Given the description of an element on the screen output the (x, y) to click on. 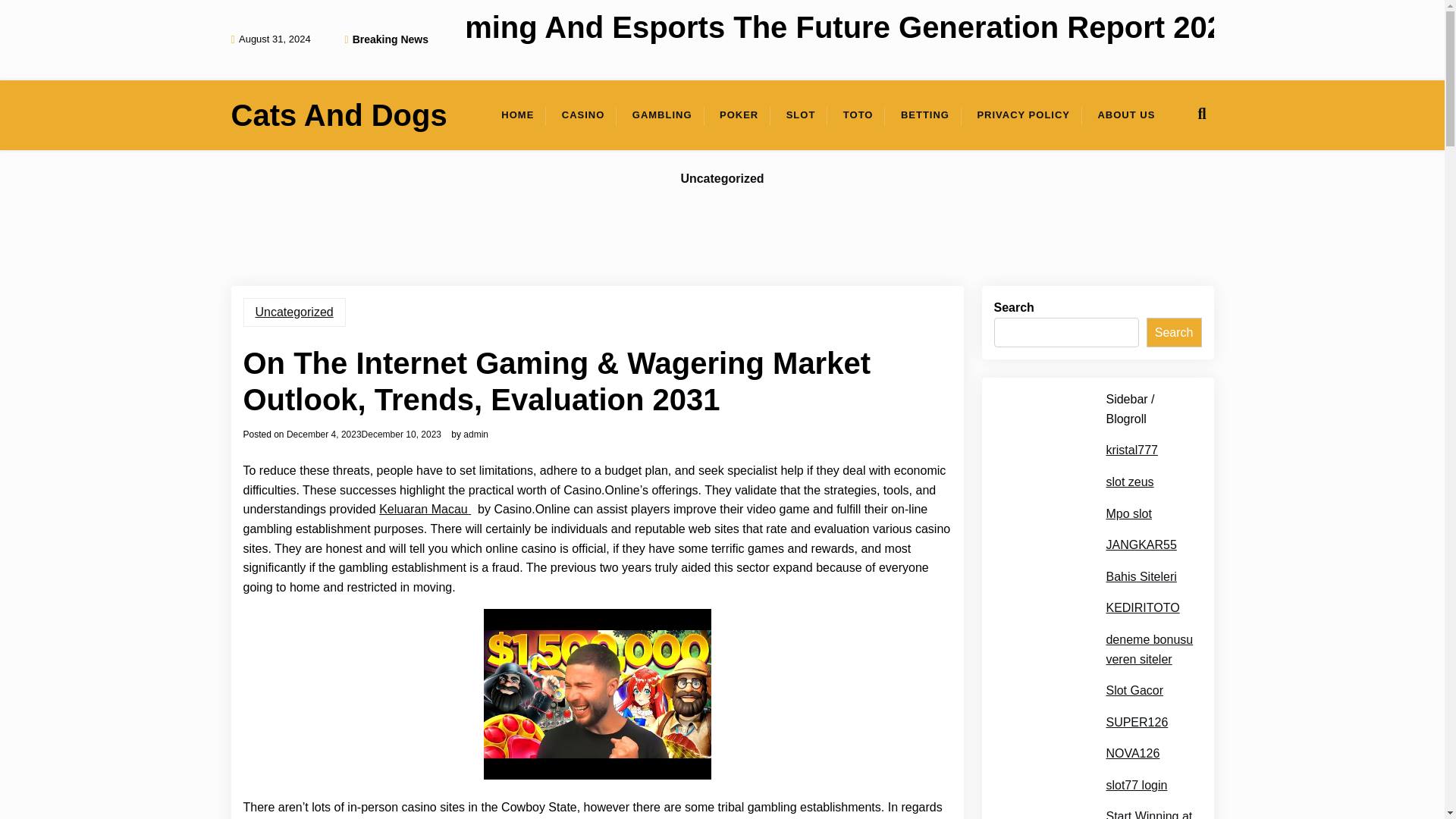
Bahis Siteleri (1140, 577)
POKER (738, 115)
CASINO (583, 115)
BETTING (924, 115)
kristal777 (1131, 450)
Search (1174, 332)
Uncategorized (722, 178)
GAMBLING (662, 115)
slot zeus (1129, 482)
HOME (517, 115)
